Given the description of an element on the screen output the (x, y) to click on. 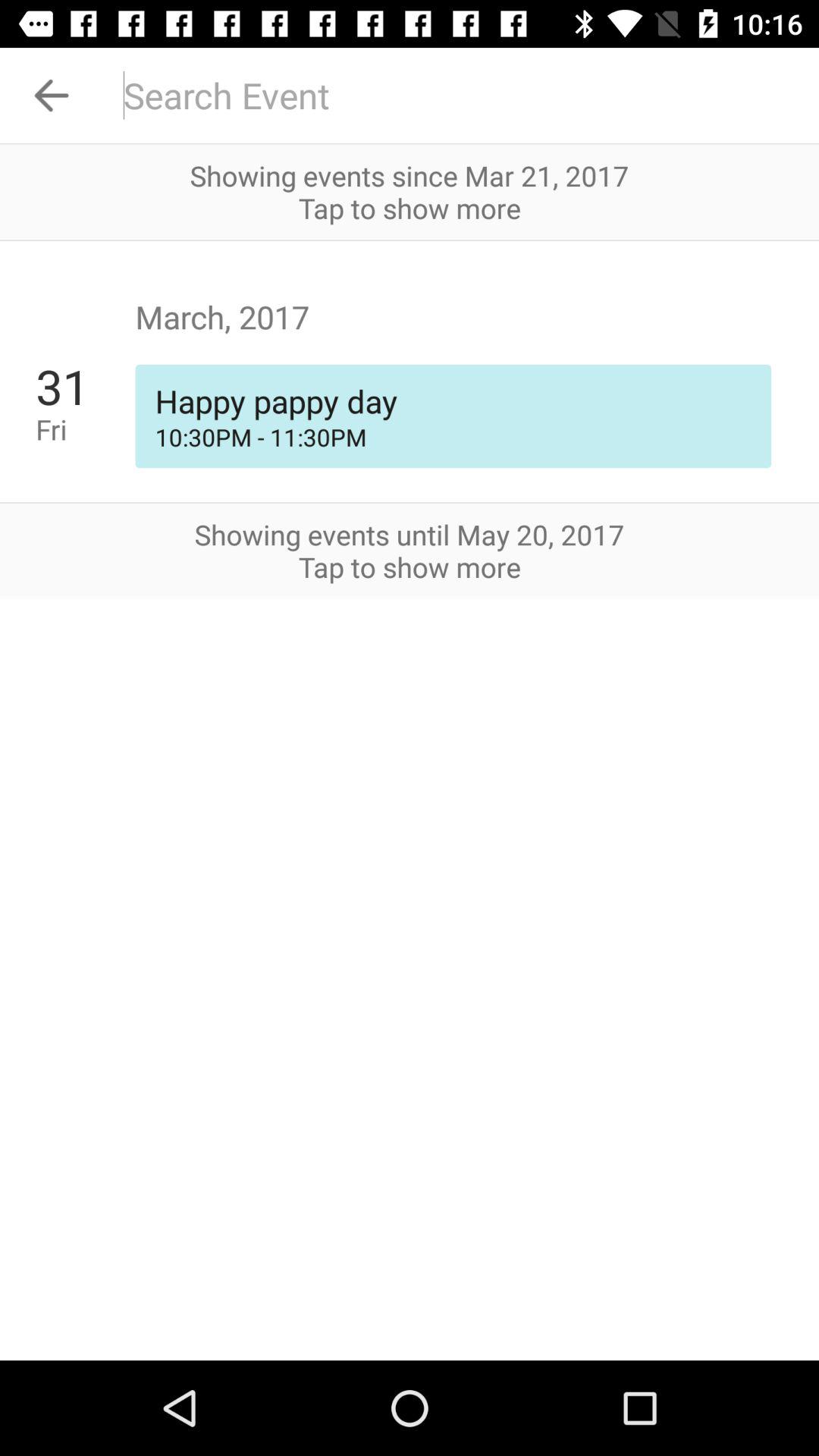
flip to the 31 (85, 386)
